Given the description of an element on the screen output the (x, y) to click on. 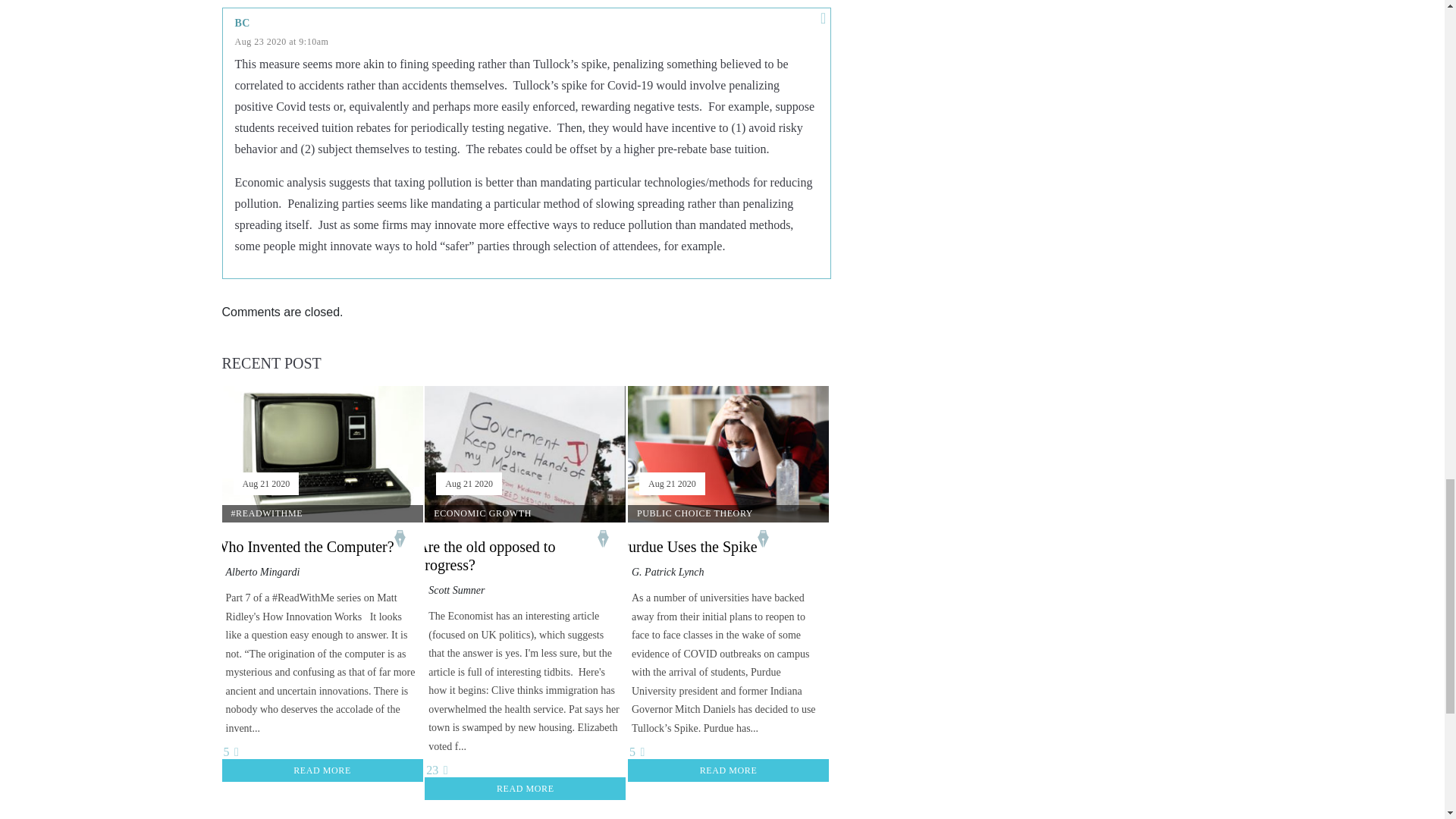
Scott Sumner (456, 590)
Alberto Mingardi (262, 572)
G. Patrick Lynch (667, 572)
